Given the description of an element on the screen output the (x, y) to click on. 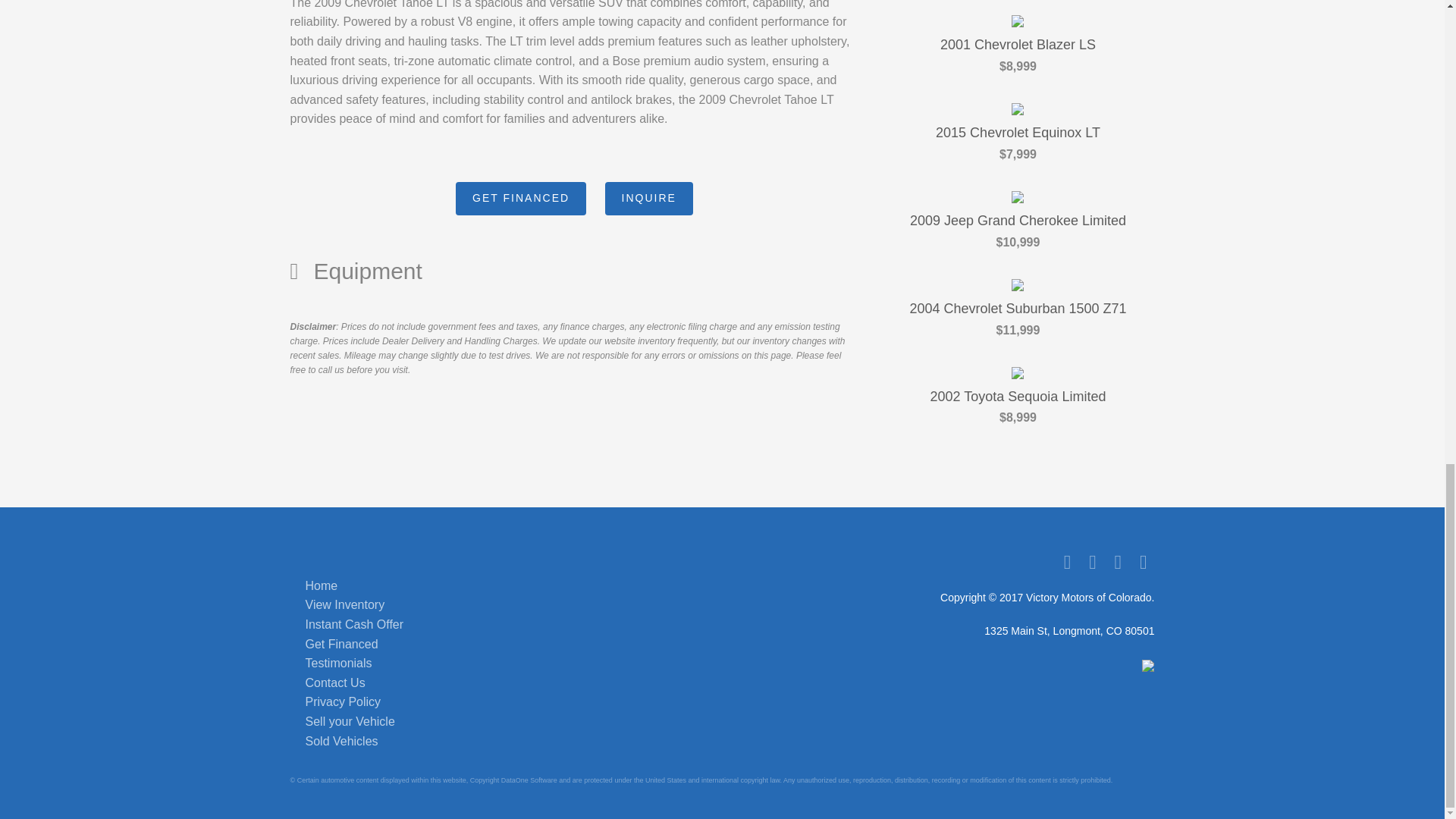
Sold Vehicles (340, 740)
Testimonials (337, 662)
View Inventory (344, 604)
Privacy Policy (342, 701)
GET FINANCED (520, 198)
Get Financed (340, 644)
INQUIRE (649, 198)
Contact Us (334, 682)
Home (320, 585)
Sell your Vehicle (349, 721)
